Given the description of an element on the screen output the (x, y) to click on. 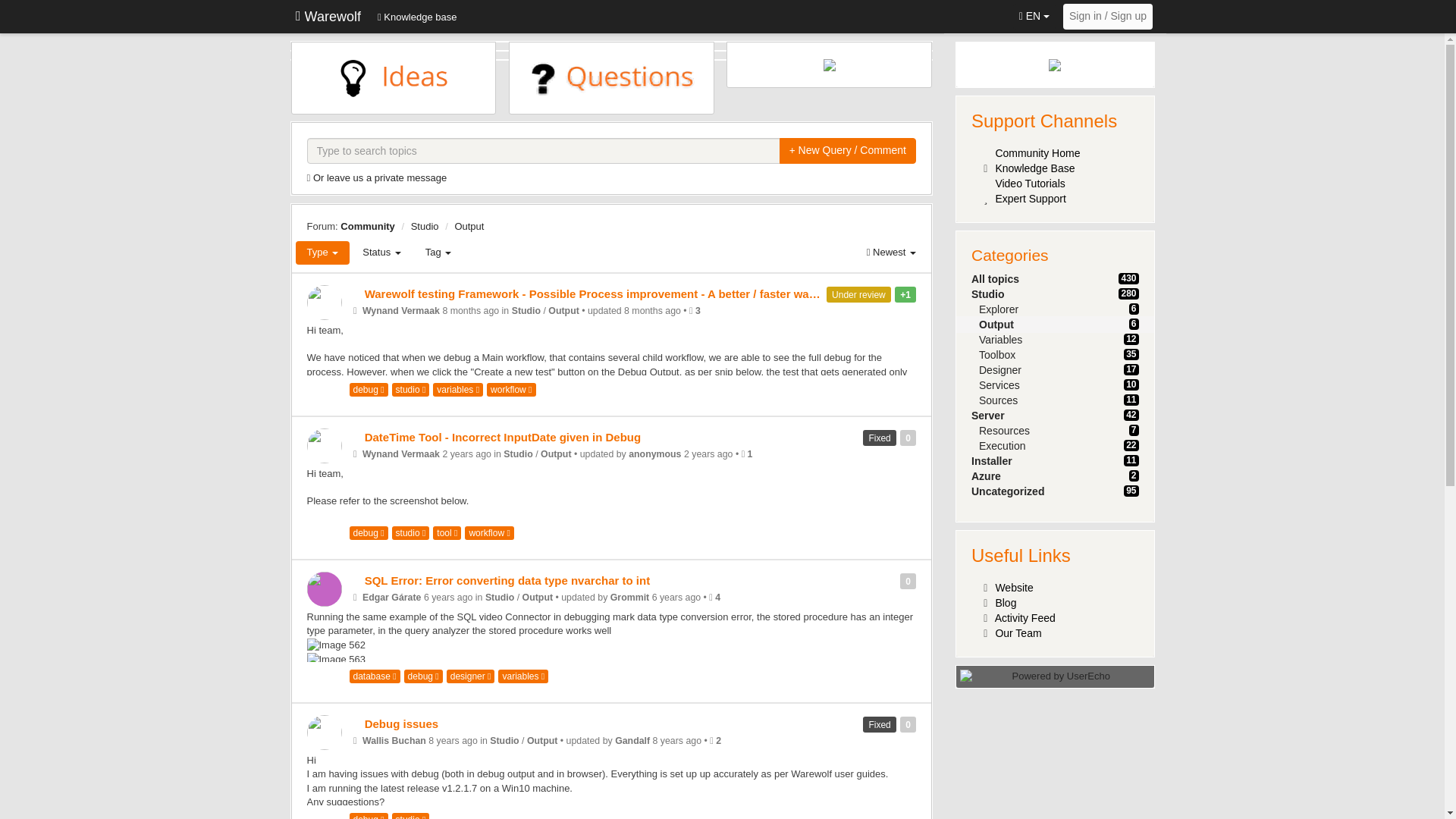
Bugs (356, 436)
April 12, 2022, 2:15 a.m. (467, 453)
Warewolf (327, 16)
Select sorting mode for topics (891, 252)
via Forum (354, 310)
1 vote. Click to vote! (905, 294)
Dec. 11, 2023, 9:43 a.m. (652, 310)
EN (1034, 16)
Filter topics by type (322, 252)
0 votes. Click to vote! (907, 437)
Or leave us a private message (379, 177)
June 2, 2022, 7:14 a.m. (708, 453)
Ideas (356, 293)
Filter topics by tag (438, 252)
via Forum (354, 453)
